Given the description of an element on the screen output the (x, y) to click on. 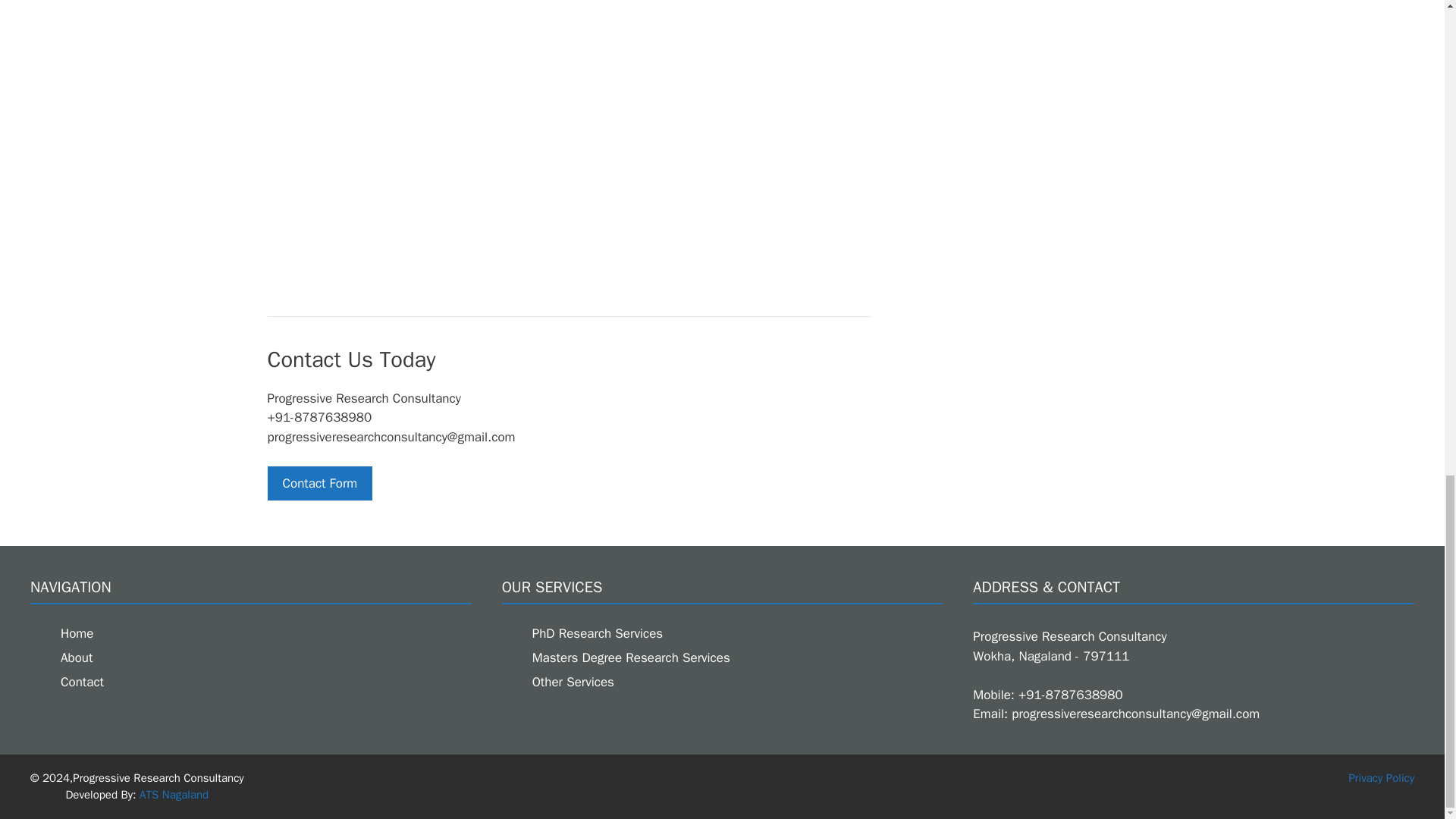
Contact Form (319, 483)
About (77, 657)
Home (77, 633)
Contact (82, 682)
Scroll back to top (1406, 392)
